Given the description of an element on the screen output the (x, y) to click on. 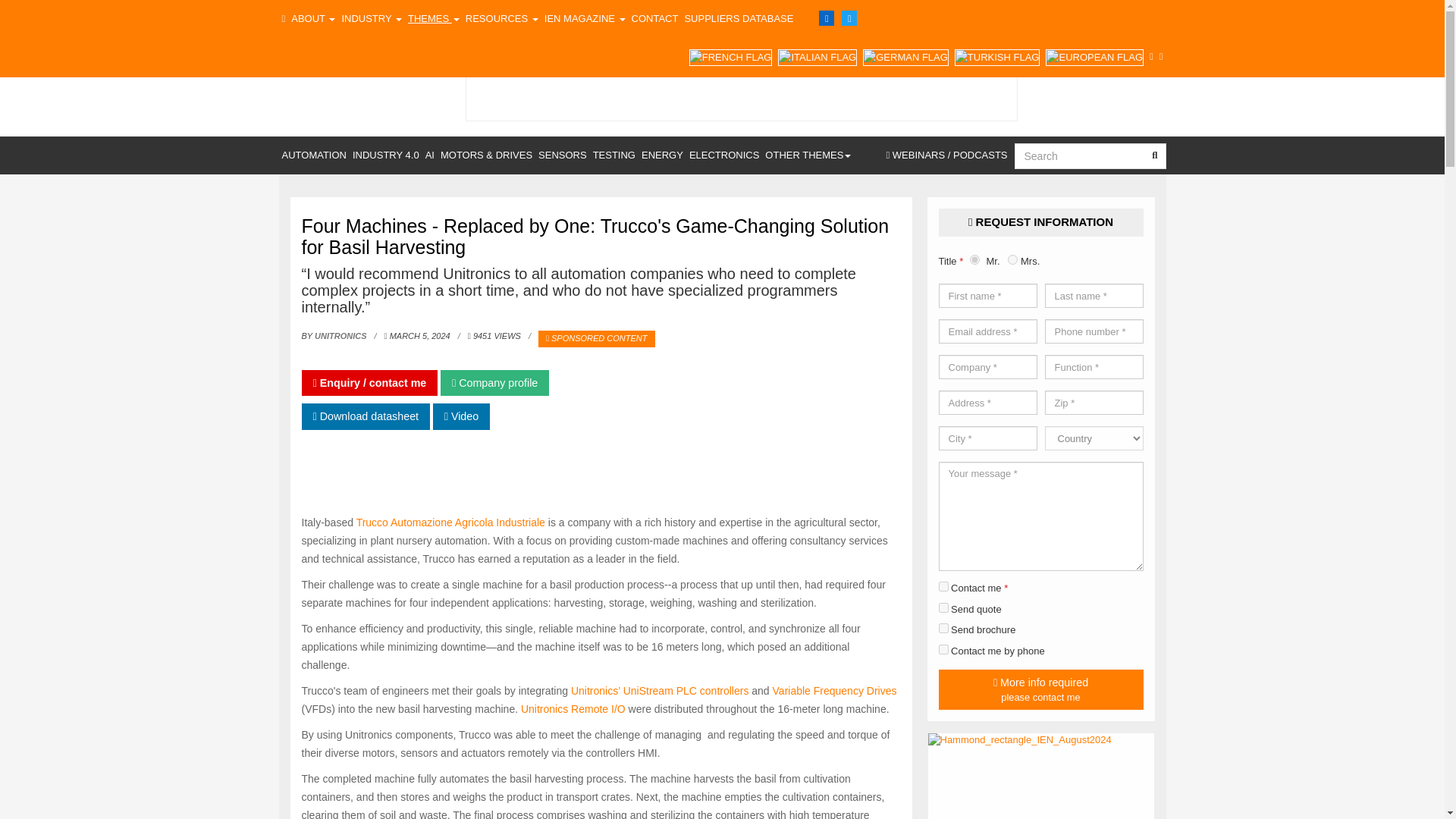
INDUSTRY (370, 18)
RESOURCES (502, 18)
Themes (433, 18)
Industry (370, 18)
Video (461, 416)
ABOUT (312, 18)
1 (944, 586)
THEMES (433, 18)
enquireForm.options.003 (944, 649)
enquireForm.options.001 (944, 628)
